Given the description of an element on the screen output the (x, y) to click on. 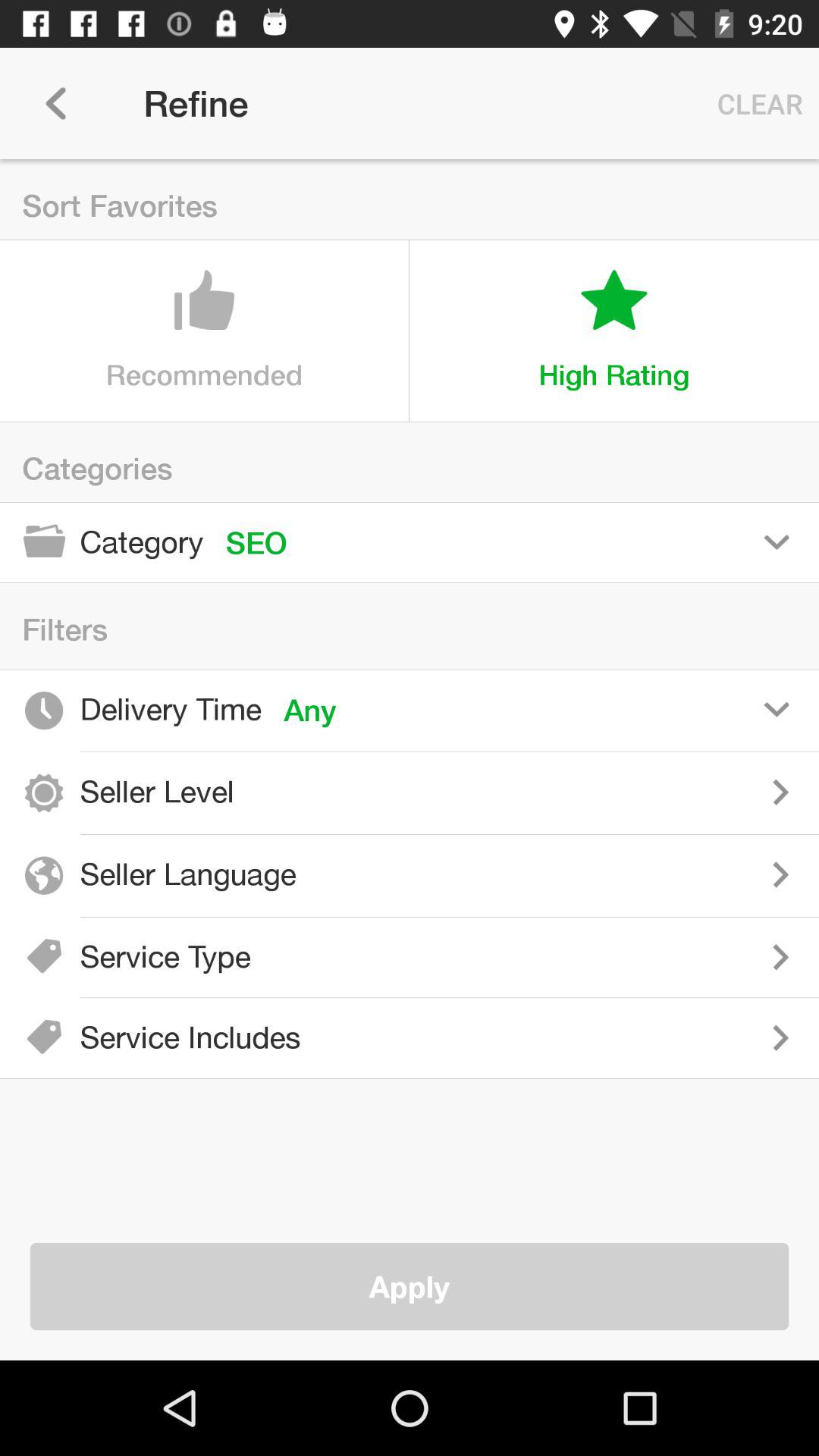
open the service includes tab (571, 1037)
